Given the description of an element on the screen output the (x, y) to click on. 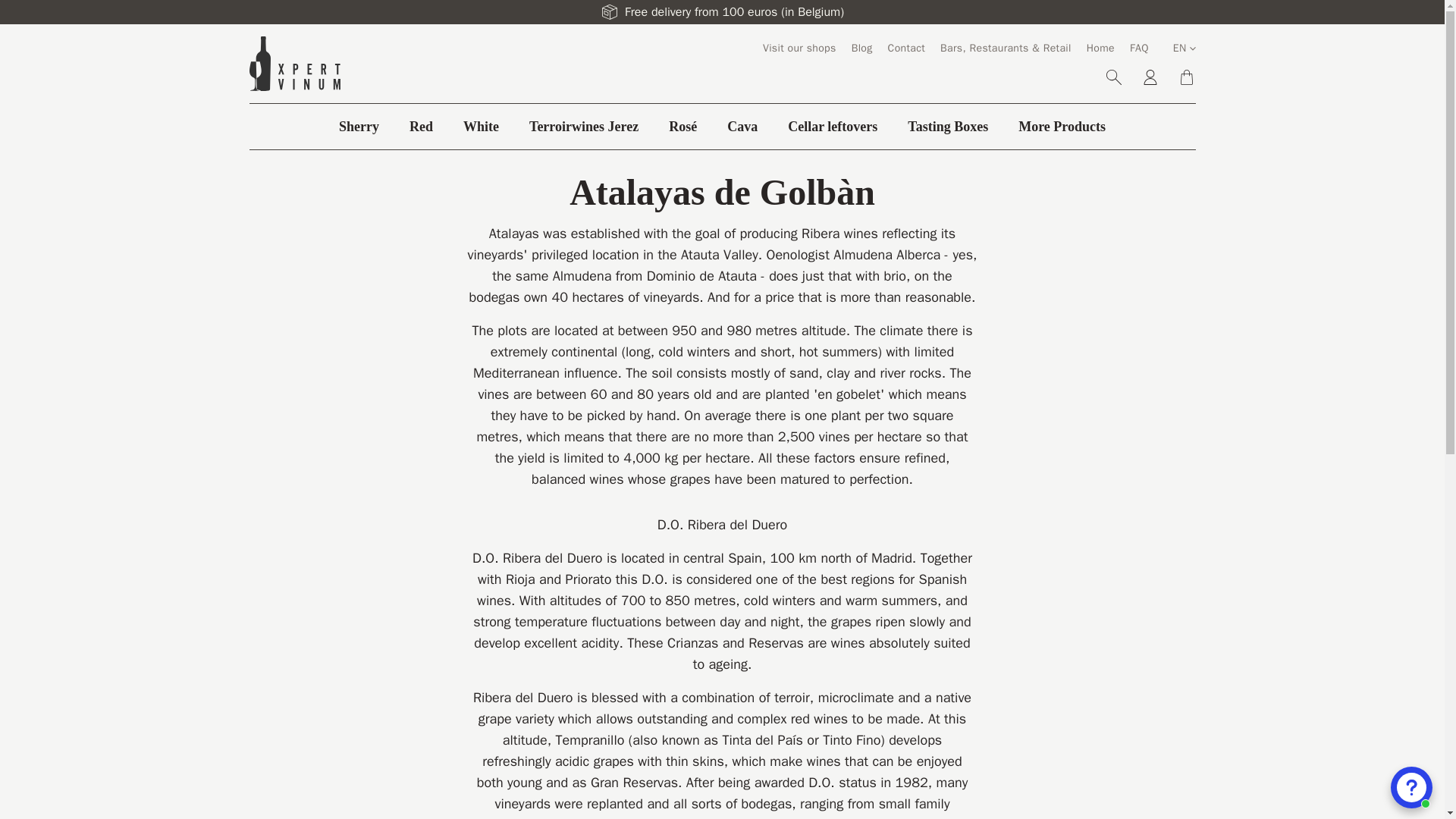
Visit our shops (798, 48)
Home (1100, 48)
FAQ (1138, 48)
Log in (1149, 76)
Tasting Boxes (947, 126)
Blog (861, 48)
Cart (1185, 76)
Red (420, 126)
Cava (741, 126)
Search (1112, 76)
Terroirwines Jerez (584, 126)
More Products (1061, 126)
Contact (906, 48)
Sherry (358, 126)
White (481, 126)
